Given the description of an element on the screen output the (x, y) to click on. 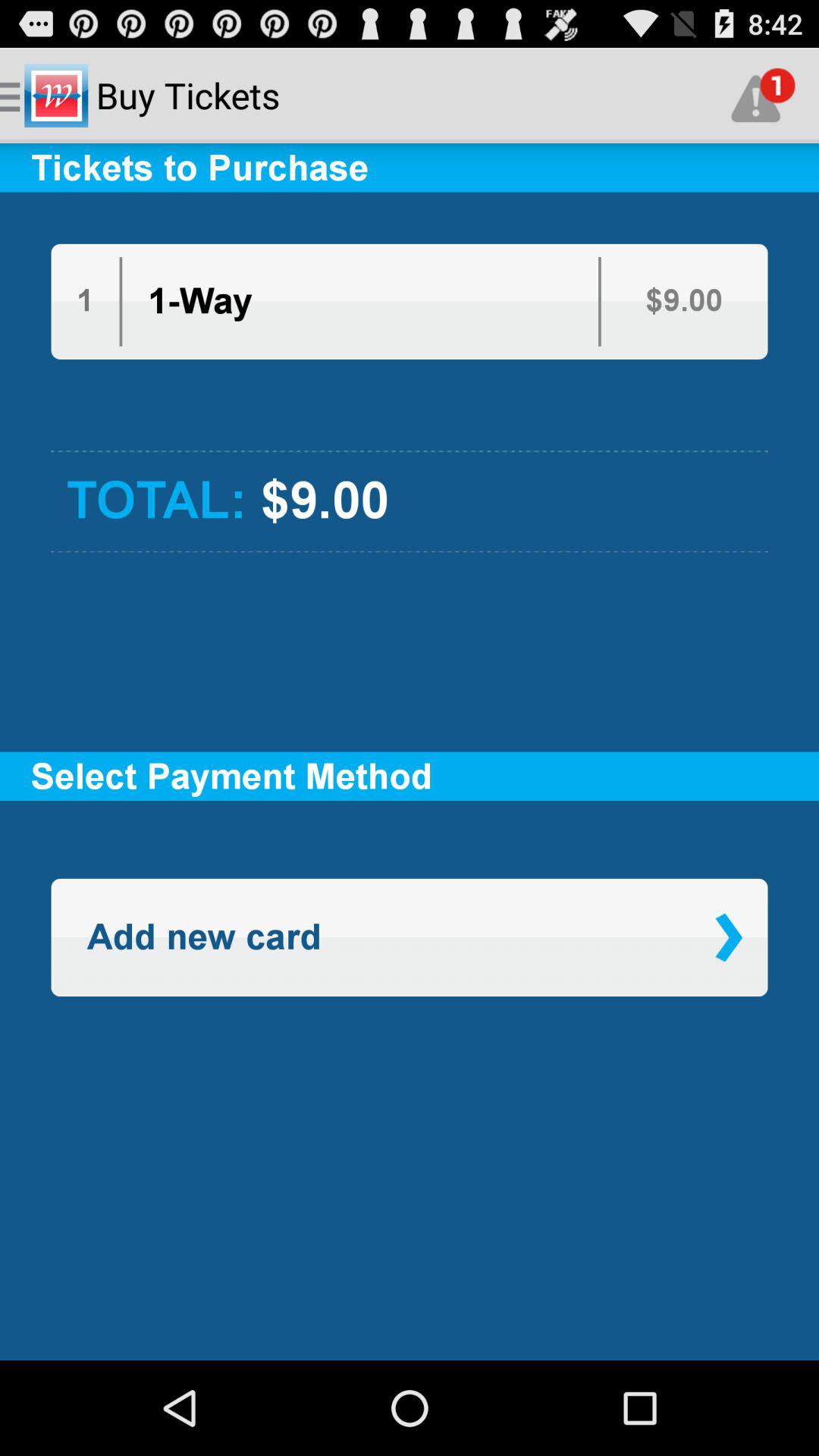
click on icon which is at top right corner (763, 95)
click on right arrow at bottom (728, 937)
